Given the description of an element on the screen output the (x, y) to click on. 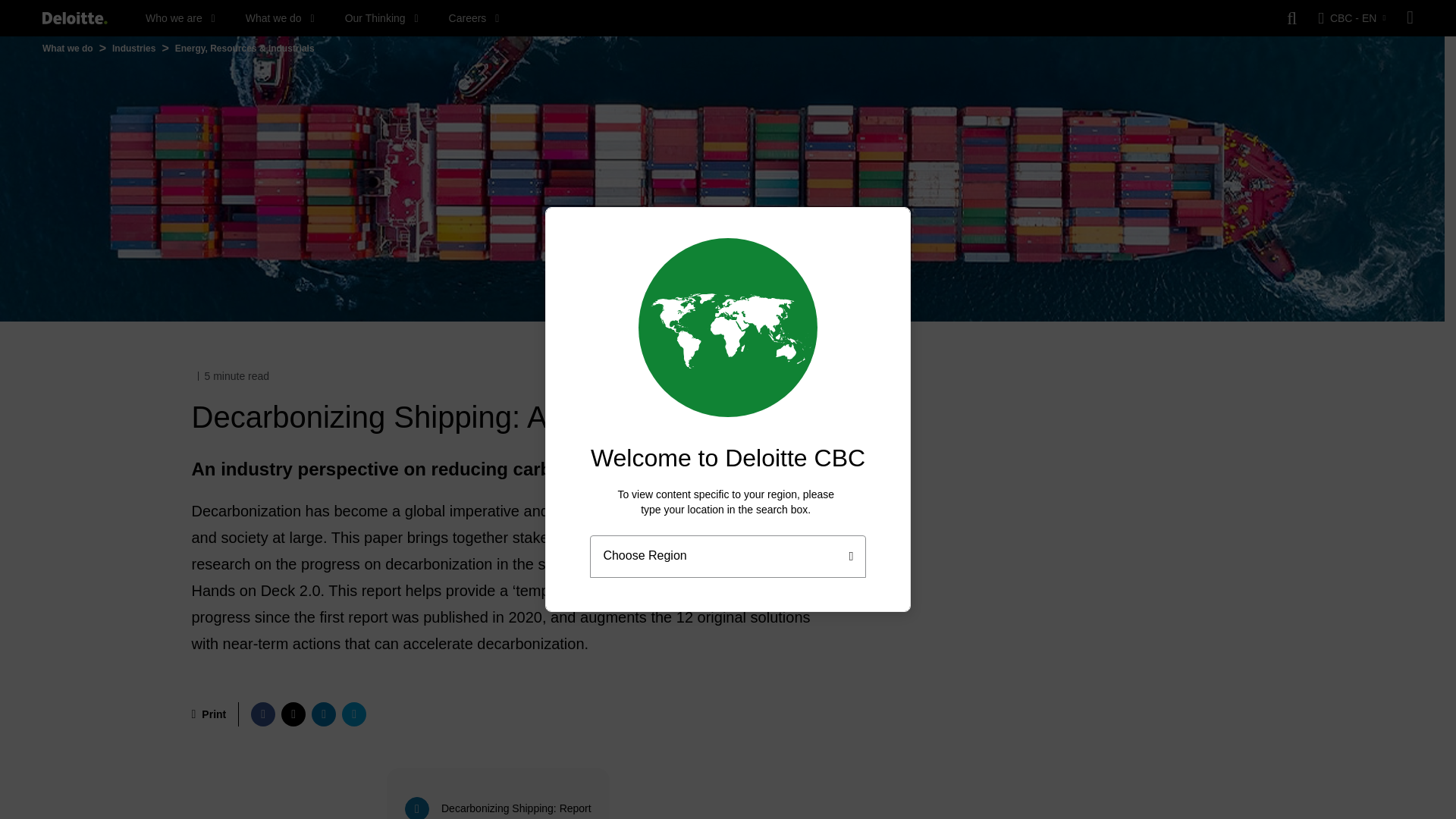
What we do (280, 18)
Who we are (180, 18)
Deloitte (74, 18)
Decarbonizing Shipping: Report (500, 785)
Decarbonizing Shipping: Report (500, 793)
Careers (473, 18)
Our Thinking (382, 18)
share via linkedin (323, 713)
Print (207, 713)
share via twitter (293, 713)
share via email (354, 713)
share via facebook (262, 713)
